Given the description of an element on the screen output the (x, y) to click on. 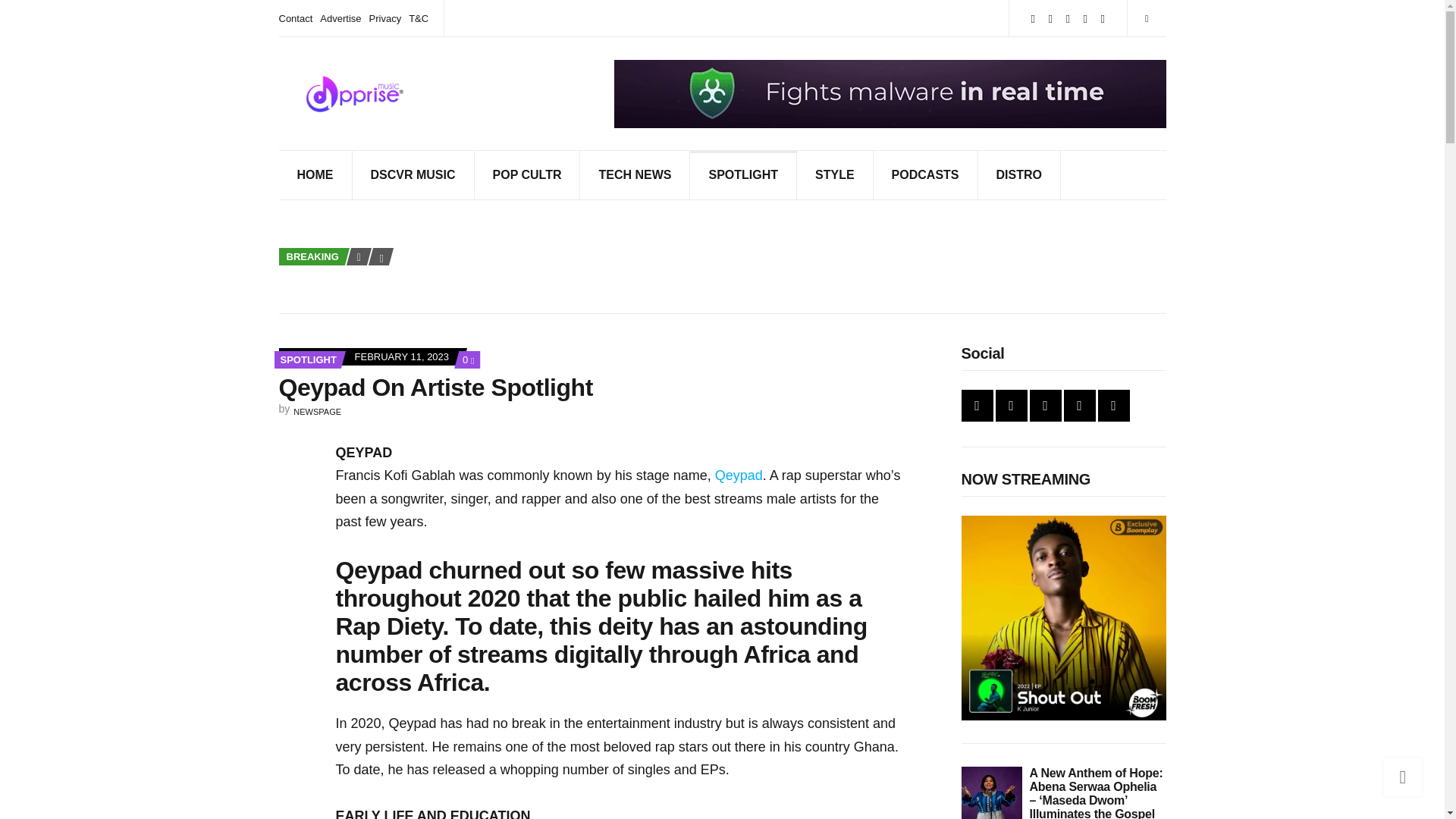
STYLE (834, 174)
SPOTLIGHT (468, 359)
POP CULTR (308, 359)
Facebook (527, 174)
Twitter (1033, 18)
SPOTLIGHT (1051, 18)
Qeypad (743, 174)
Spotify (738, 475)
HOME (1102, 18)
